Given the description of an element on the screen output the (x, y) to click on. 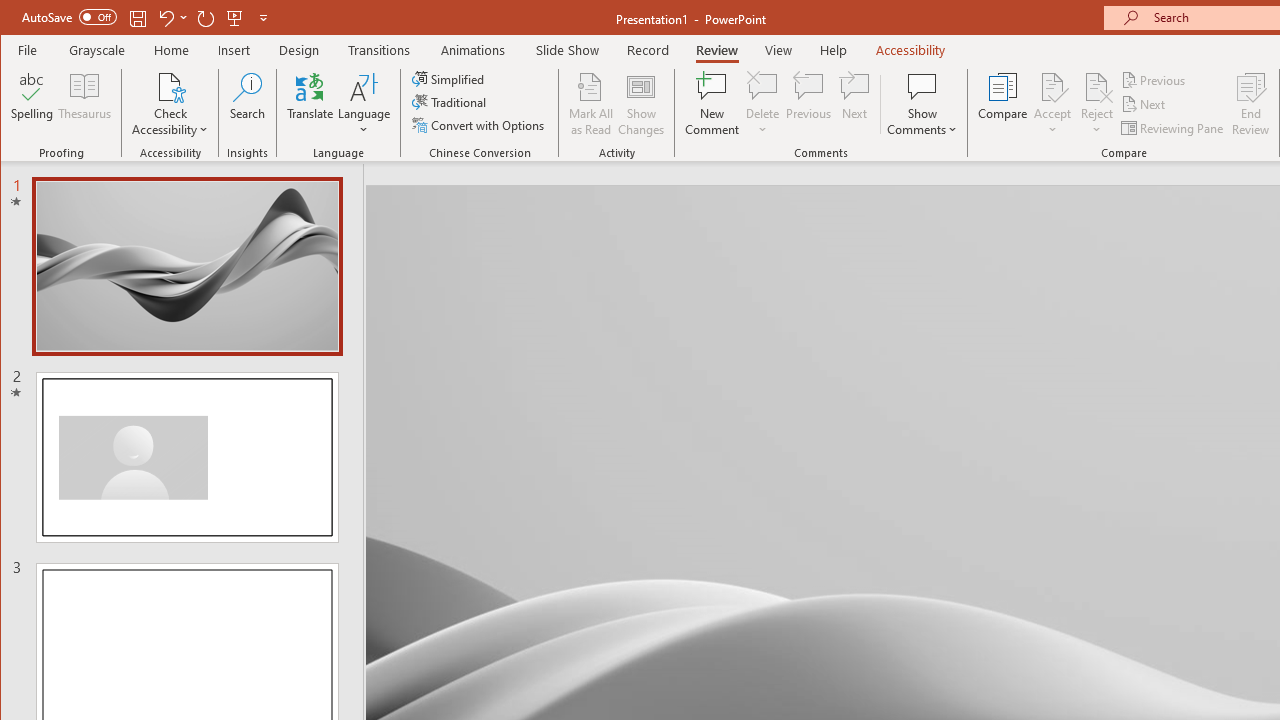
Simplified (450, 78)
Traditional (450, 101)
Convert with Options... (479, 124)
Mark All as Read (591, 104)
Show Changes (640, 104)
Reject Change (1096, 86)
